Given the description of an element on the screen output the (x, y) to click on. 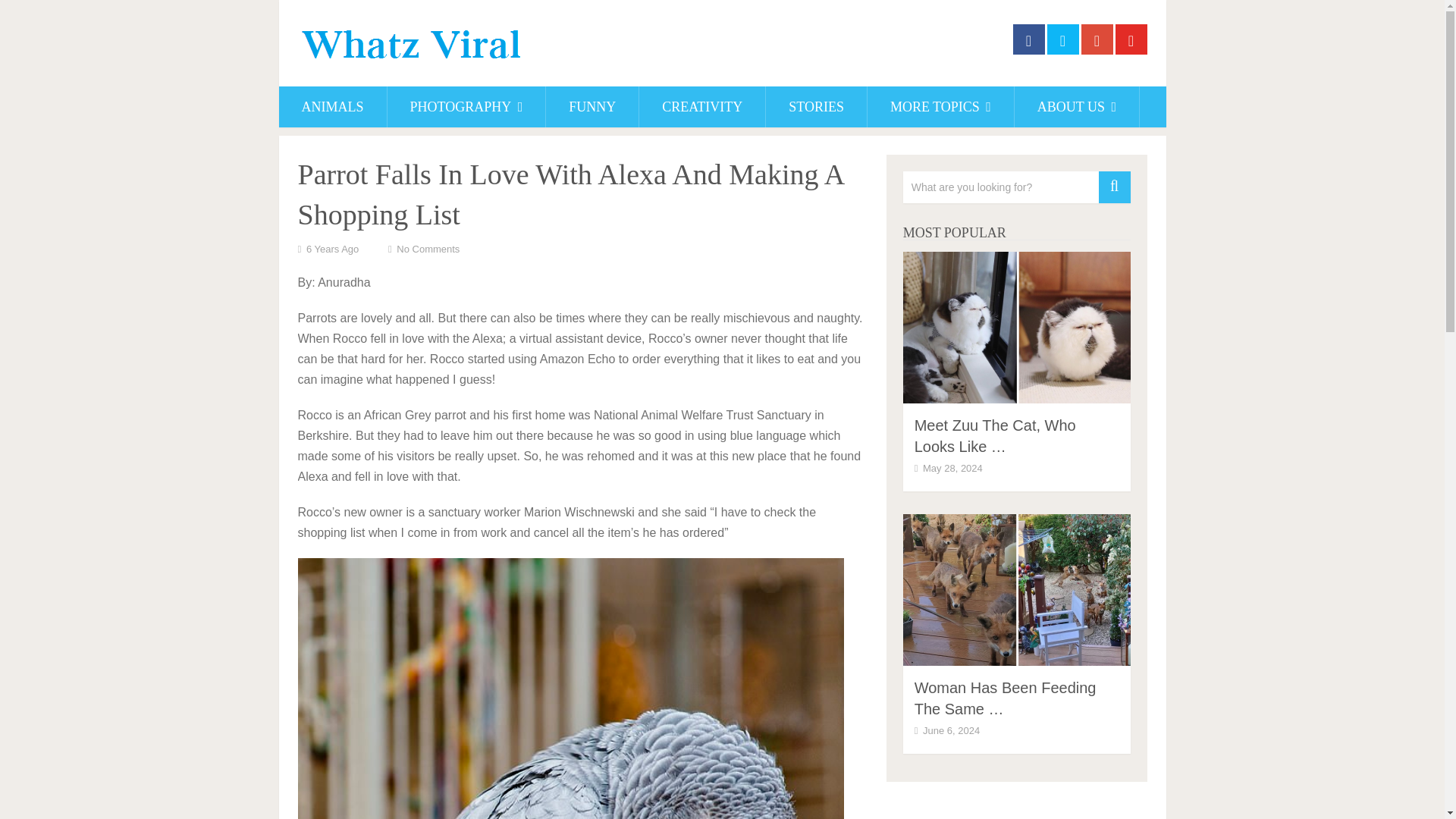
No Comments (428, 248)
CREATIVITY (702, 106)
FUNNY (592, 106)
ABOUT US (1076, 106)
MORE TOPICS (940, 106)
ANIMALS (333, 106)
PHOTOGRAPHY (466, 106)
STORIES (815, 106)
